Given the description of an element on the screen output the (x, y) to click on. 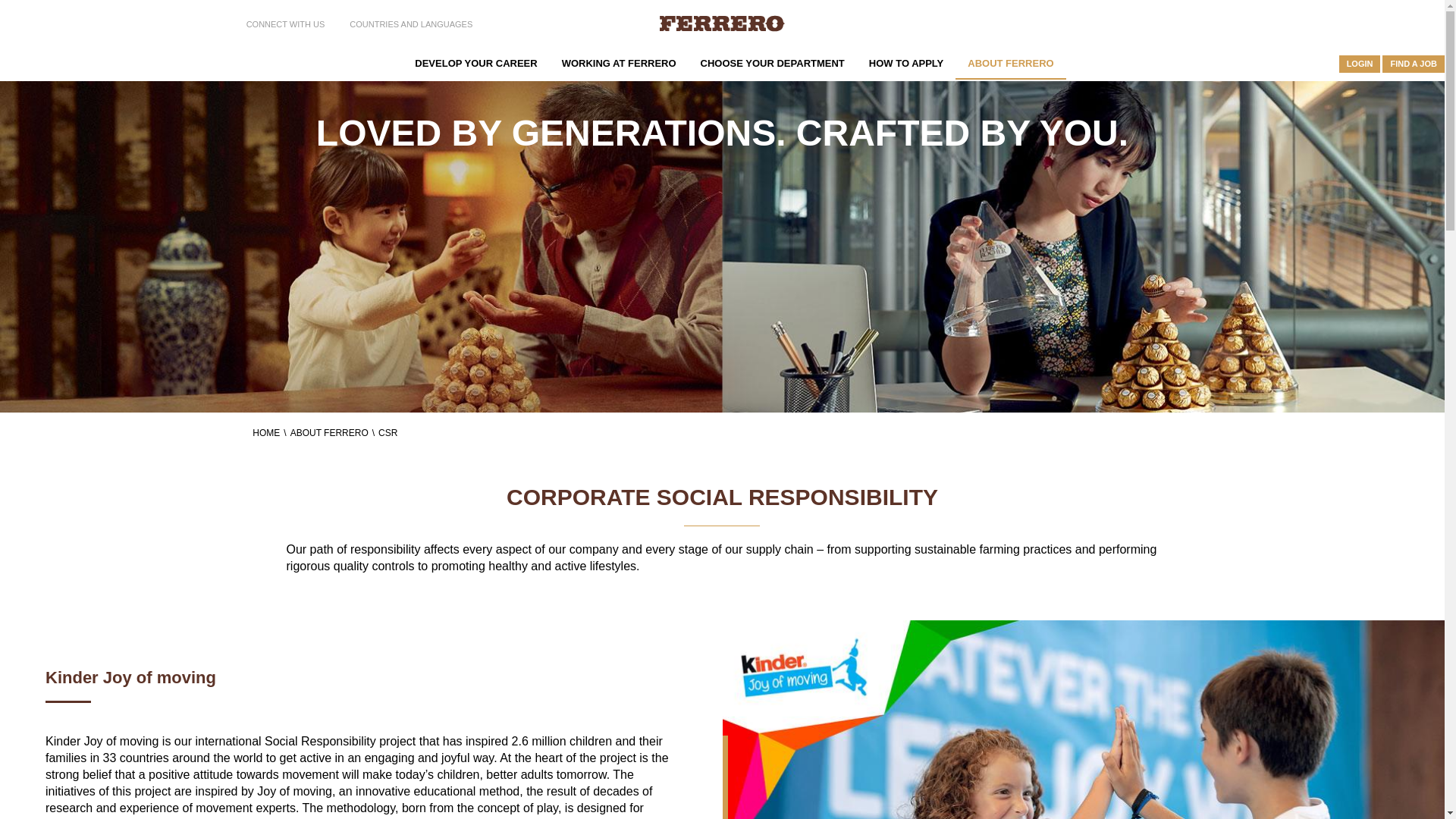
HOW TO APPLY (906, 62)
HOME (390, 63)
ABOUT FERRERO (1010, 62)
Home (721, 23)
CHOOSE YOUR DEPARTMENT (772, 62)
DEVELOP YOUR CAREER (475, 62)
HOME (270, 432)
LOGIN (1359, 63)
WORKING AT FERRERO (619, 62)
ABOUT FERRERO (333, 432)
